Given the description of an element on the screen output the (x, y) to click on. 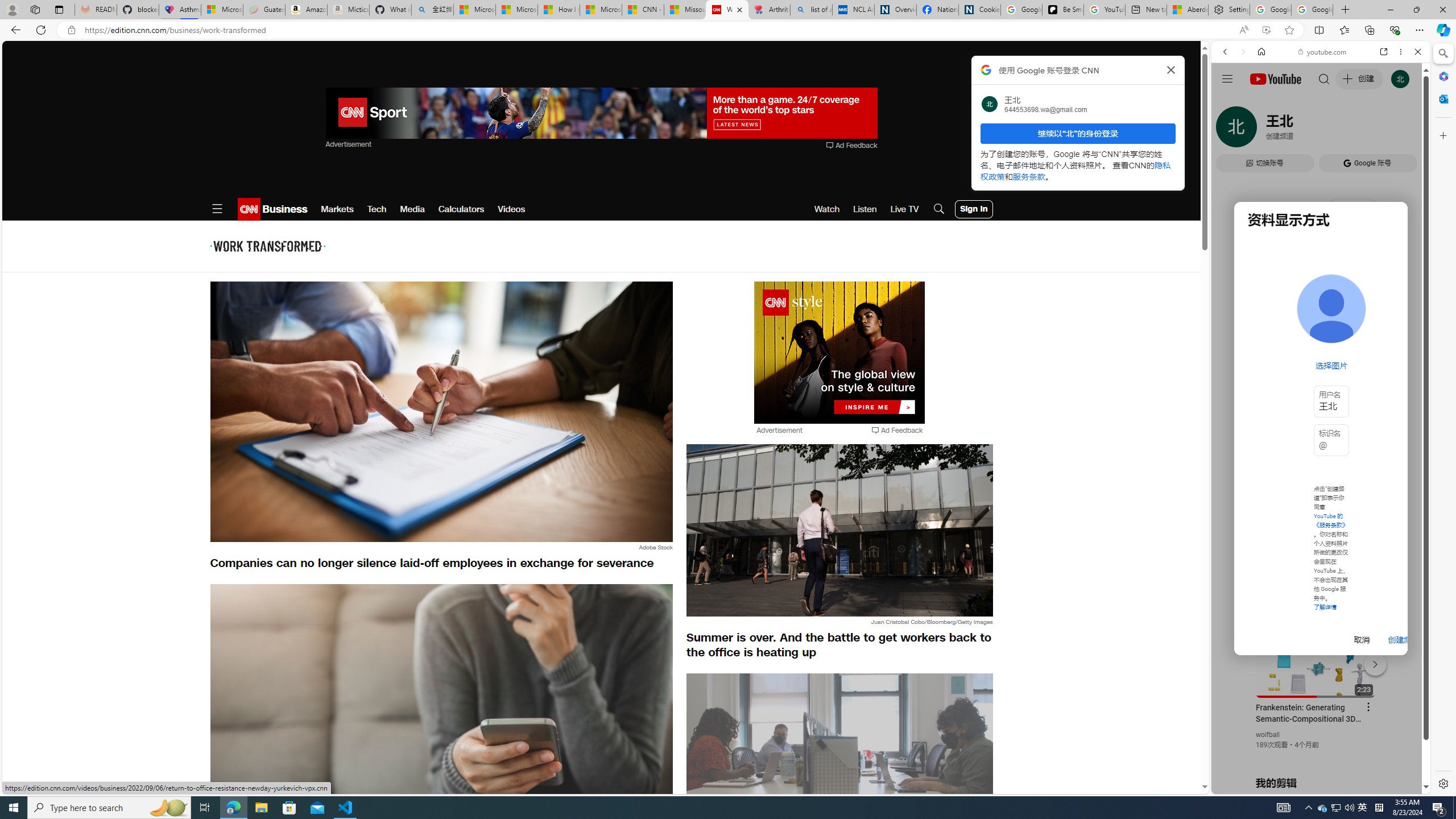
Class: b_serphb (1404, 130)
Live TV (903, 208)
Music (1320, 309)
Search Filter, WEB (1230, 129)
YouTube - YouTube (1315, 560)
Trailer #2 [HD] (1320, 337)
